Given the description of an element on the screen output the (x, y) to click on. 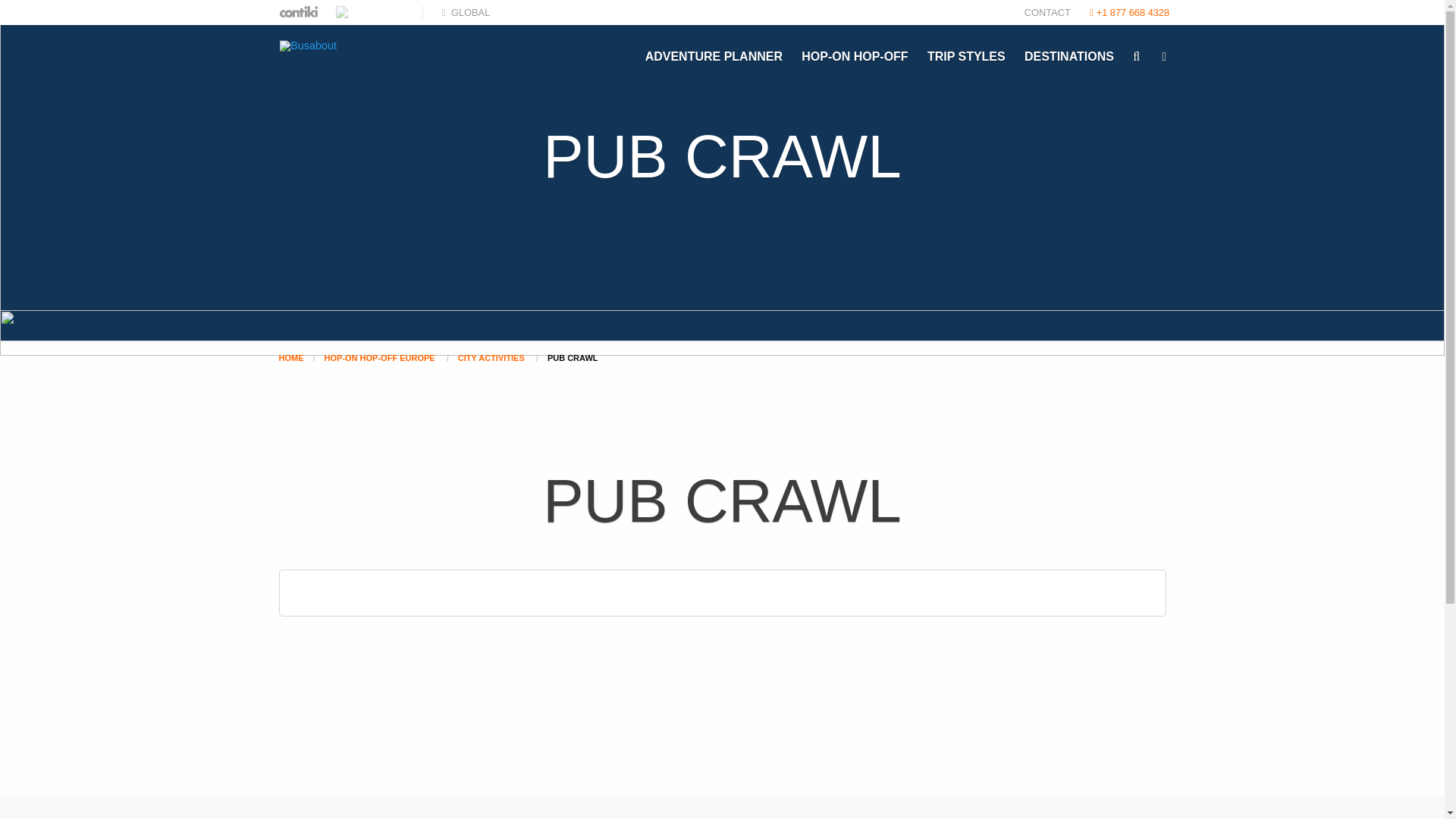
Create Your Own Itinerary (713, 55)
Hop-on Hop-off Europe (854, 55)
HOP-ON HOP-OFF (854, 55)
ADVENTURE PLANNER (713, 55)
Busabout (360, 50)
TRIP STYLES (965, 55)
